Given the description of an element on the screen output the (x, y) to click on. 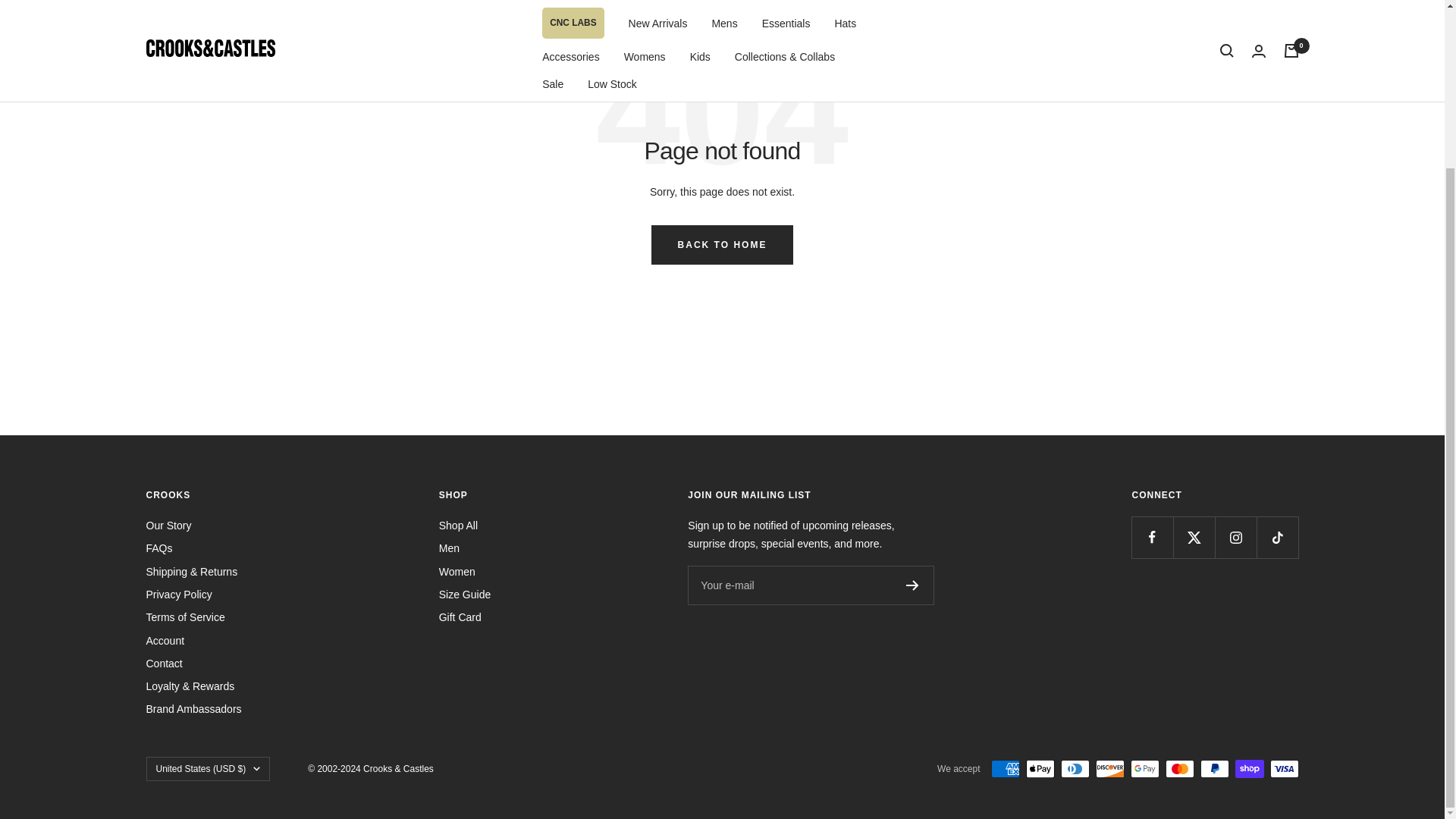
Our Story (167, 525)
Men (449, 547)
Women (457, 571)
Contact (163, 663)
Account (164, 640)
Brand Ambassadors (193, 709)
FAQs (158, 547)
Shop All (458, 525)
Privacy Policy (178, 594)
BACK TO HOME (721, 244)
